Given the description of an element on the screen output the (x, y) to click on. 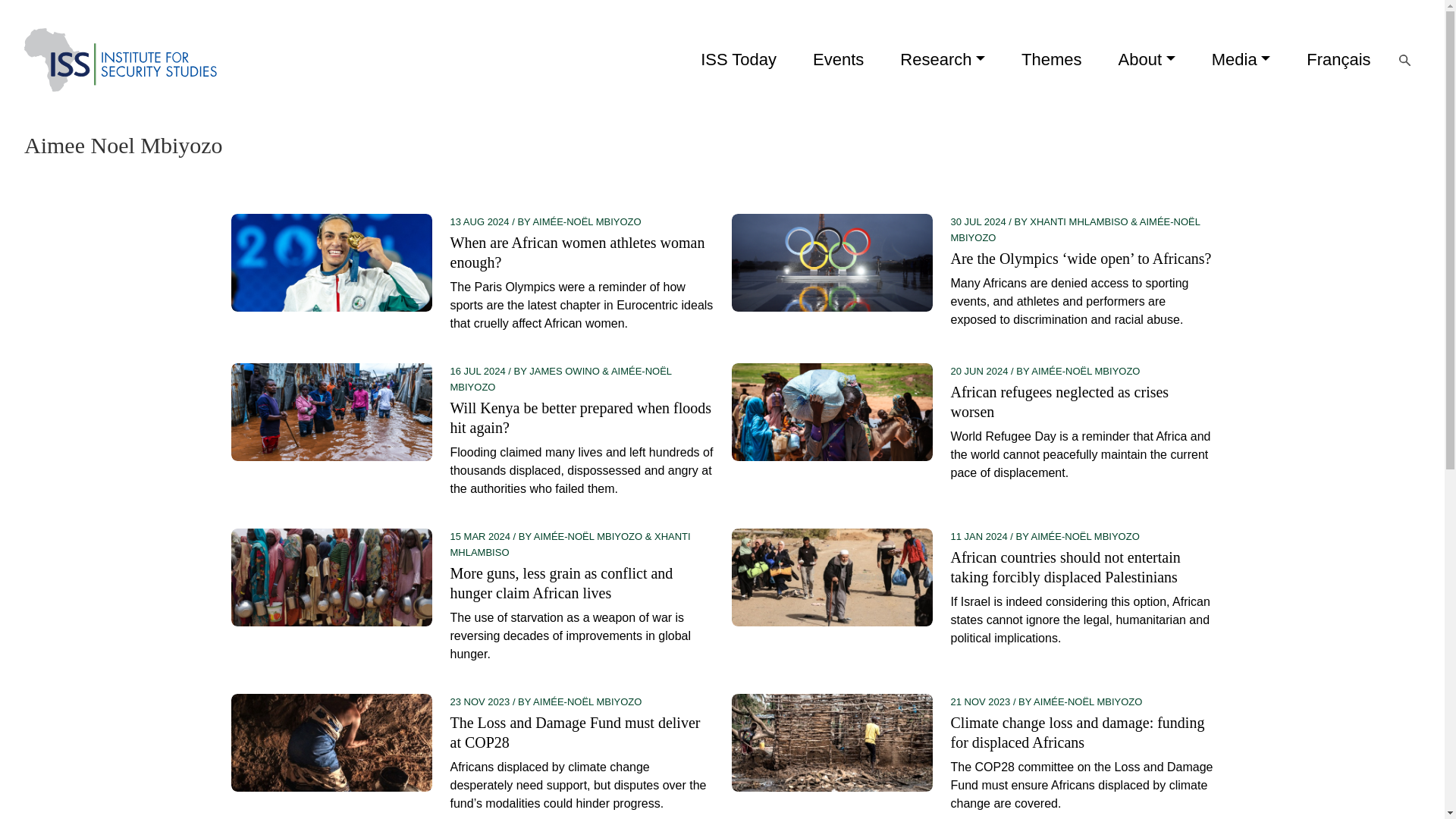
Media (1240, 59)
Events (838, 59)
About (1146, 59)
ISS Today (738, 59)
Research (942, 59)
Themes (1051, 59)
